Given the description of an element on the screen output the (x, y) to click on. 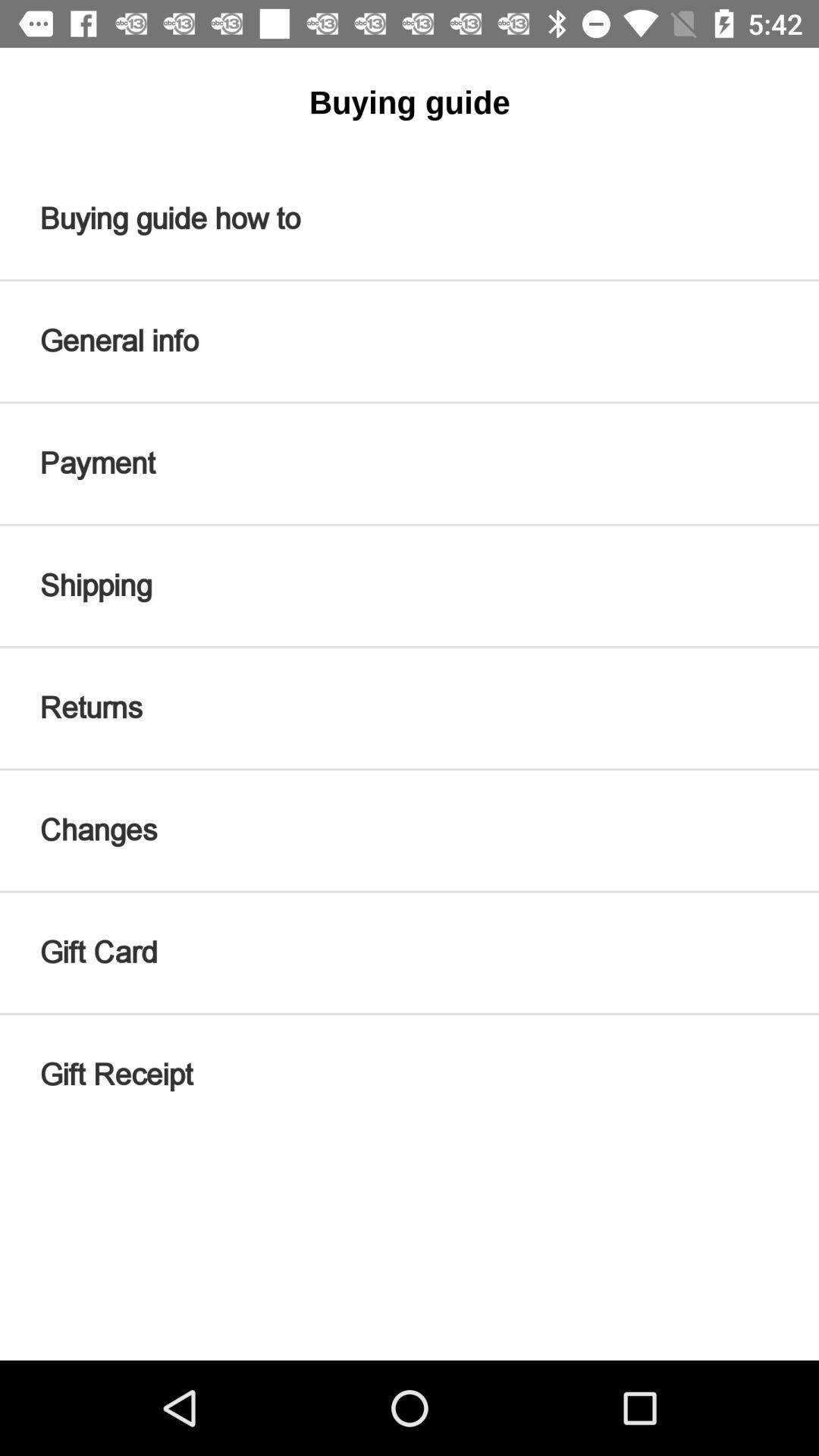
launch icon above gift receipt icon (409, 952)
